Given the description of an element on the screen output the (x, y) to click on. 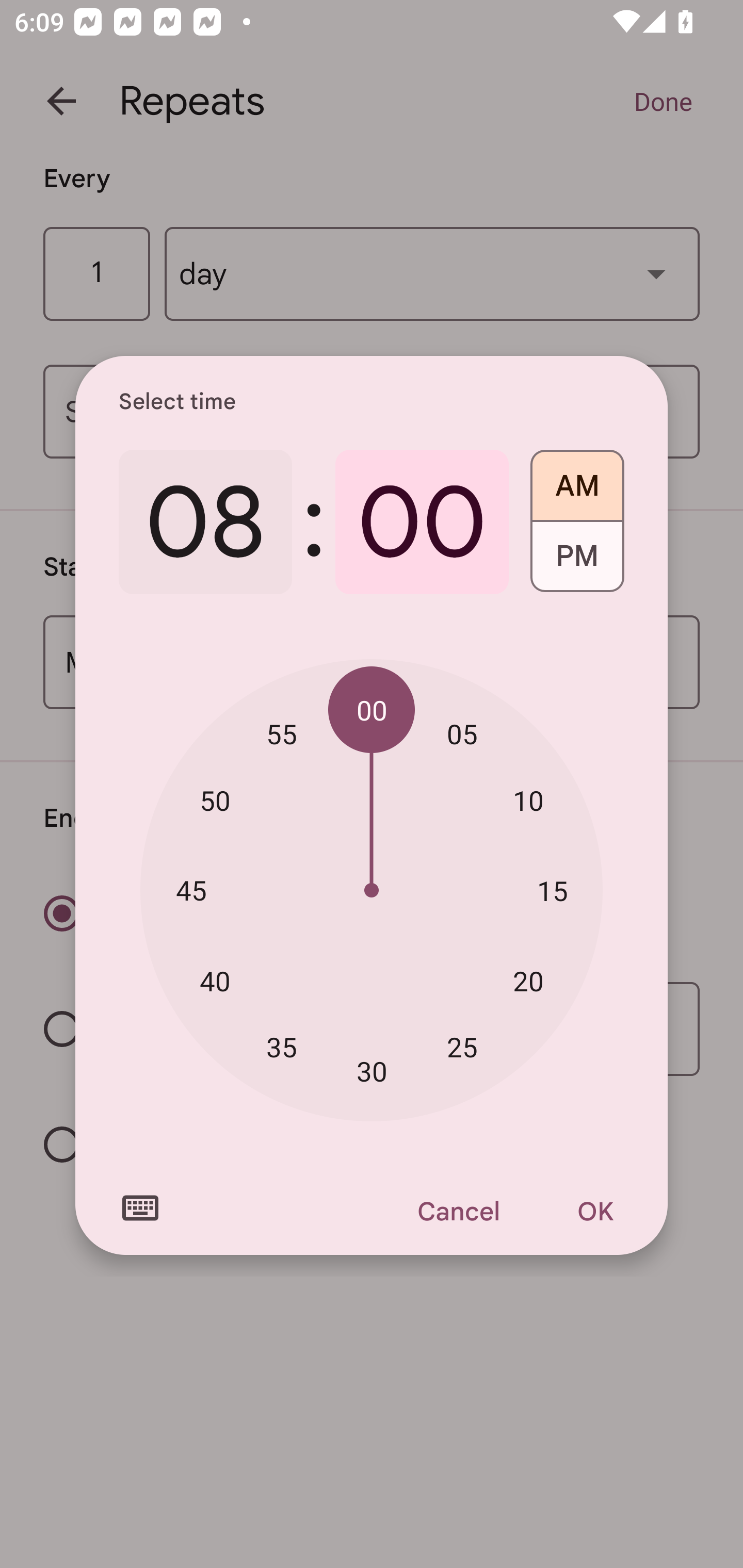
AM (577, 478)
08 8 o'clock (204, 522)
00 0 minutes (421, 522)
PM (577, 563)
00 00 minutes (371, 710)
55 55 minutes (281, 733)
05 05 minutes (462, 733)
50 50 minutes (214, 800)
10 10 minutes (528, 800)
45 45 minutes (190, 889)
15 15 minutes (551, 890)
40 40 minutes (214, 980)
20 20 minutes (528, 980)
35 35 minutes (281, 1046)
25 25 minutes (462, 1046)
30 30 minutes (371, 1071)
Switch to text input mode for the time input. (140, 1208)
Cancel (458, 1211)
OK (595, 1211)
